Given the description of an element on the screen output the (x, y) to click on. 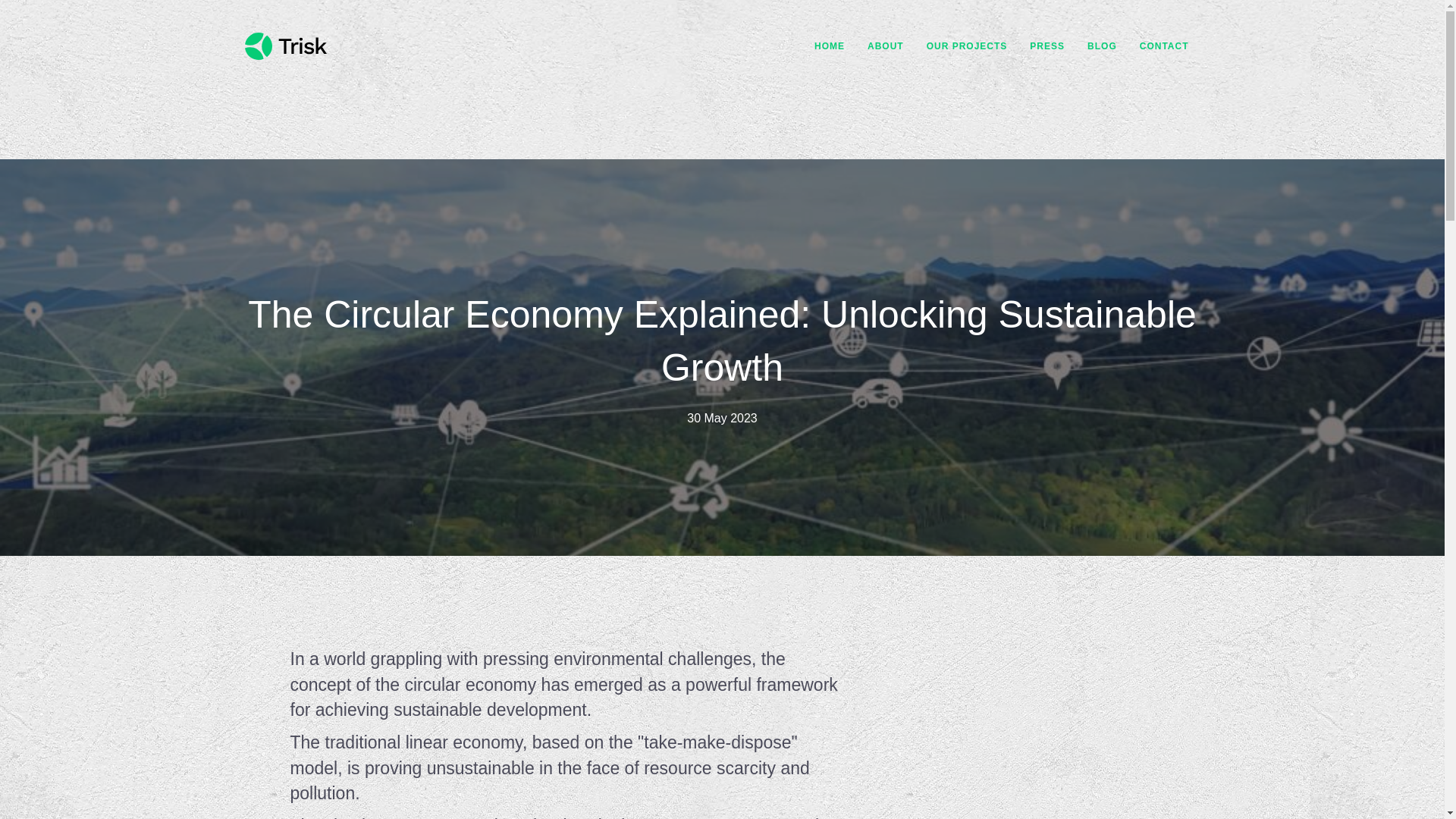
ABOUT (885, 46)
PRESS (1046, 46)
HOME (828, 46)
OUR PROJECTS (966, 46)
CONTACT (1164, 46)
Trisk-Logo-Green-Black (285, 45)
BLOG (1102, 46)
